Given the description of an element on the screen output the (x, y) to click on. 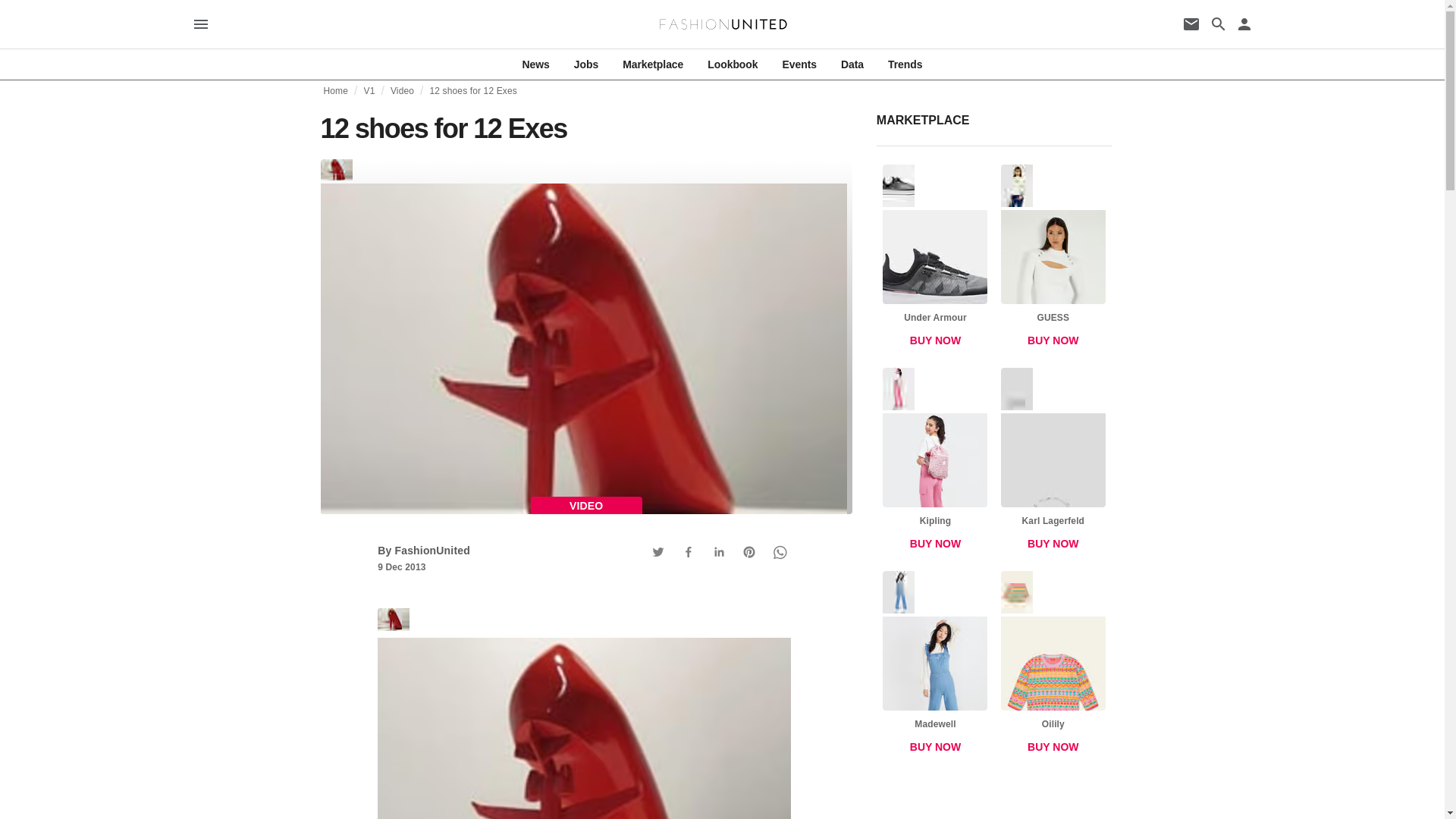
BUY NOW (935, 747)
BUY NOW (1053, 747)
BUY NOW (935, 543)
Data (852, 64)
V1 (369, 90)
Lookbook (732, 64)
Home (335, 90)
12 shoes for 12 Exes (583, 713)
BUY NOW (935, 340)
12 shoes for 12 Exes (472, 90)
BUY NOW (1053, 340)
Events (799, 64)
3rd party ad content (994, 802)
Jobs (586, 64)
